Given the description of an element on the screen output the (x, y) to click on. 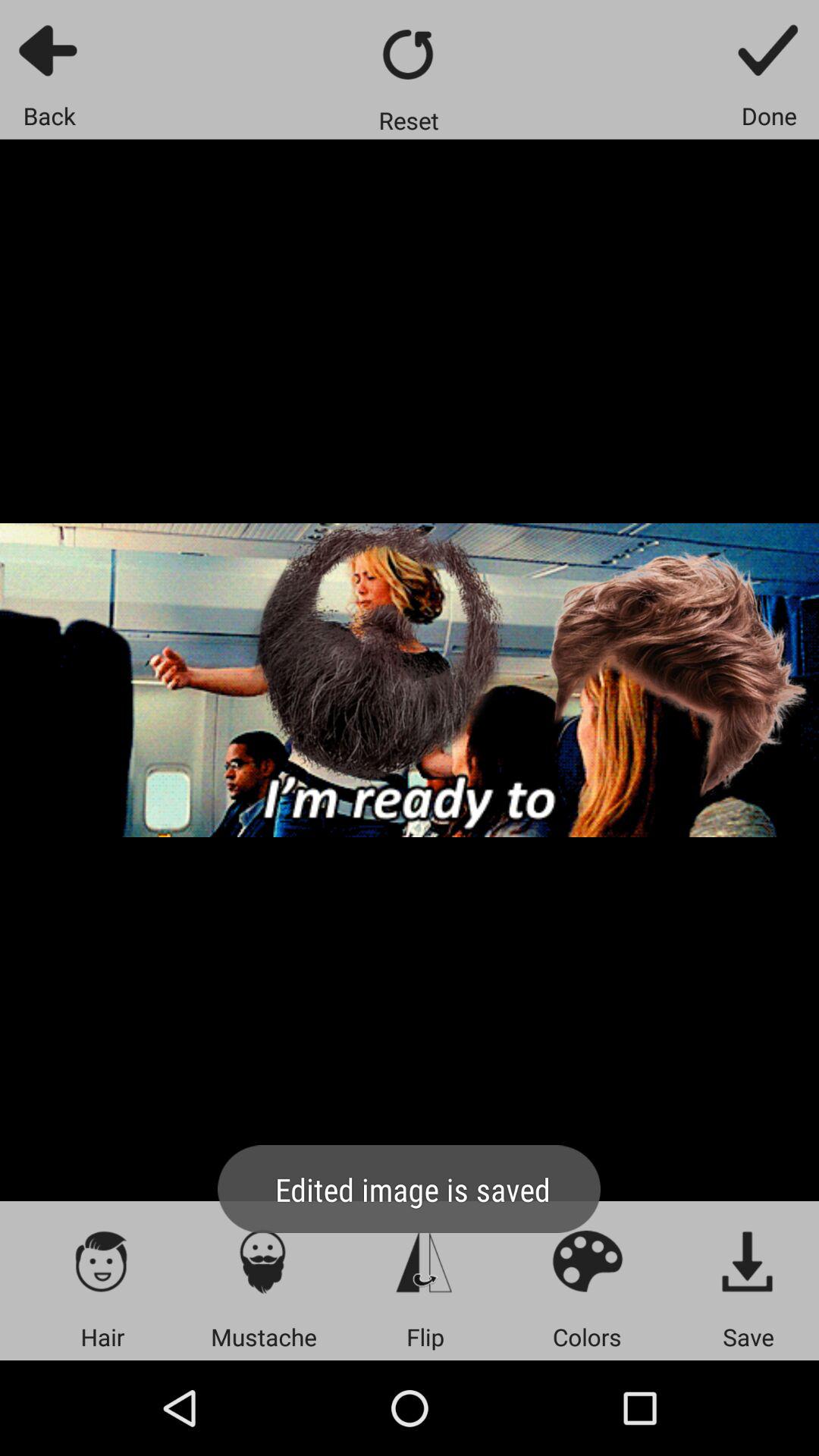
save button (748, 1260)
